Given the description of an element on the screen output the (x, y) to click on. 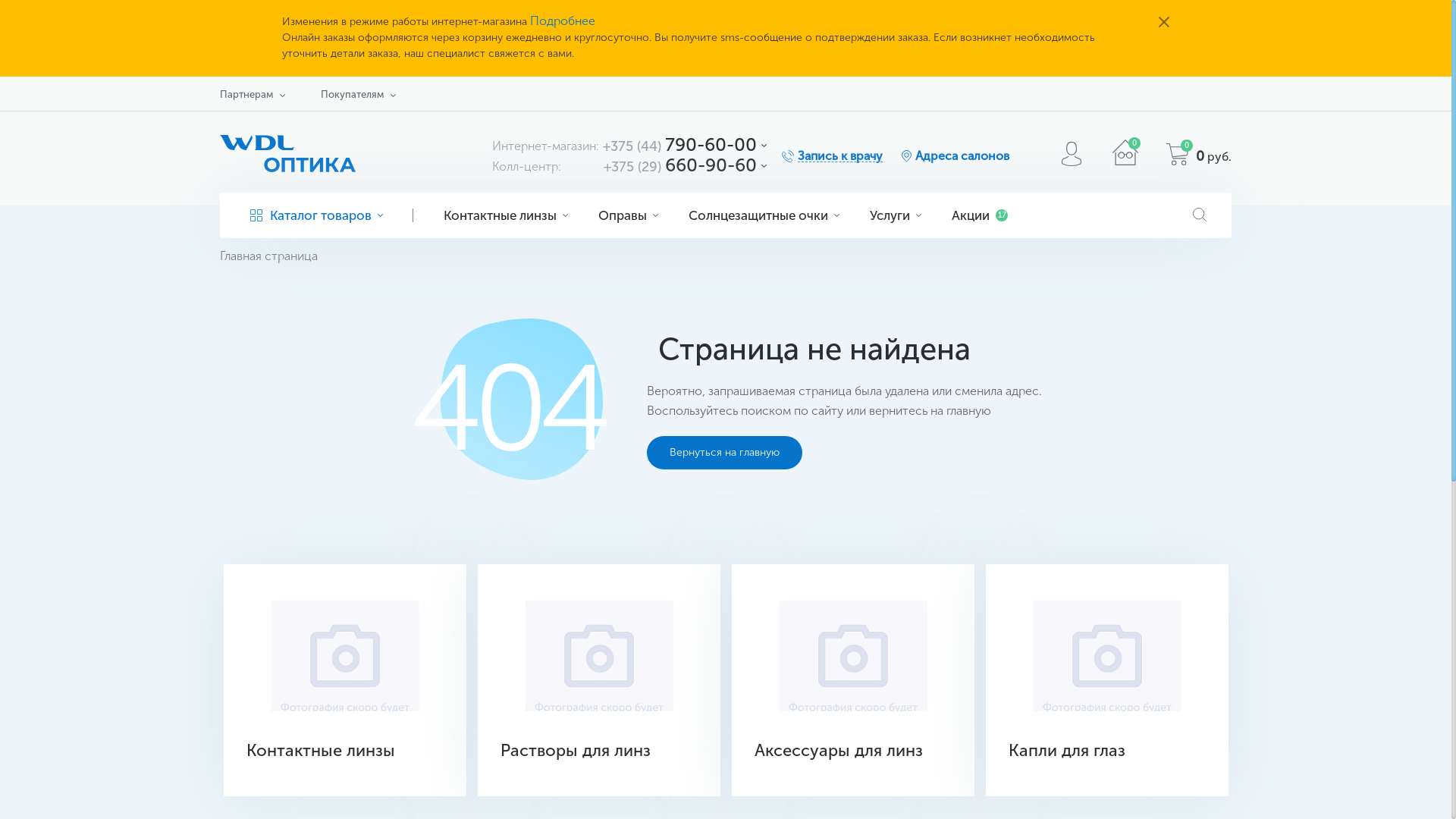
+375 (29) 660-90-60 Element type: text (679, 164)
0 Element type: text (1125, 160)
+375 (44) 790-60-00 Element type: text (679, 144)
